Given the description of an element on the screen output the (x, y) to click on. 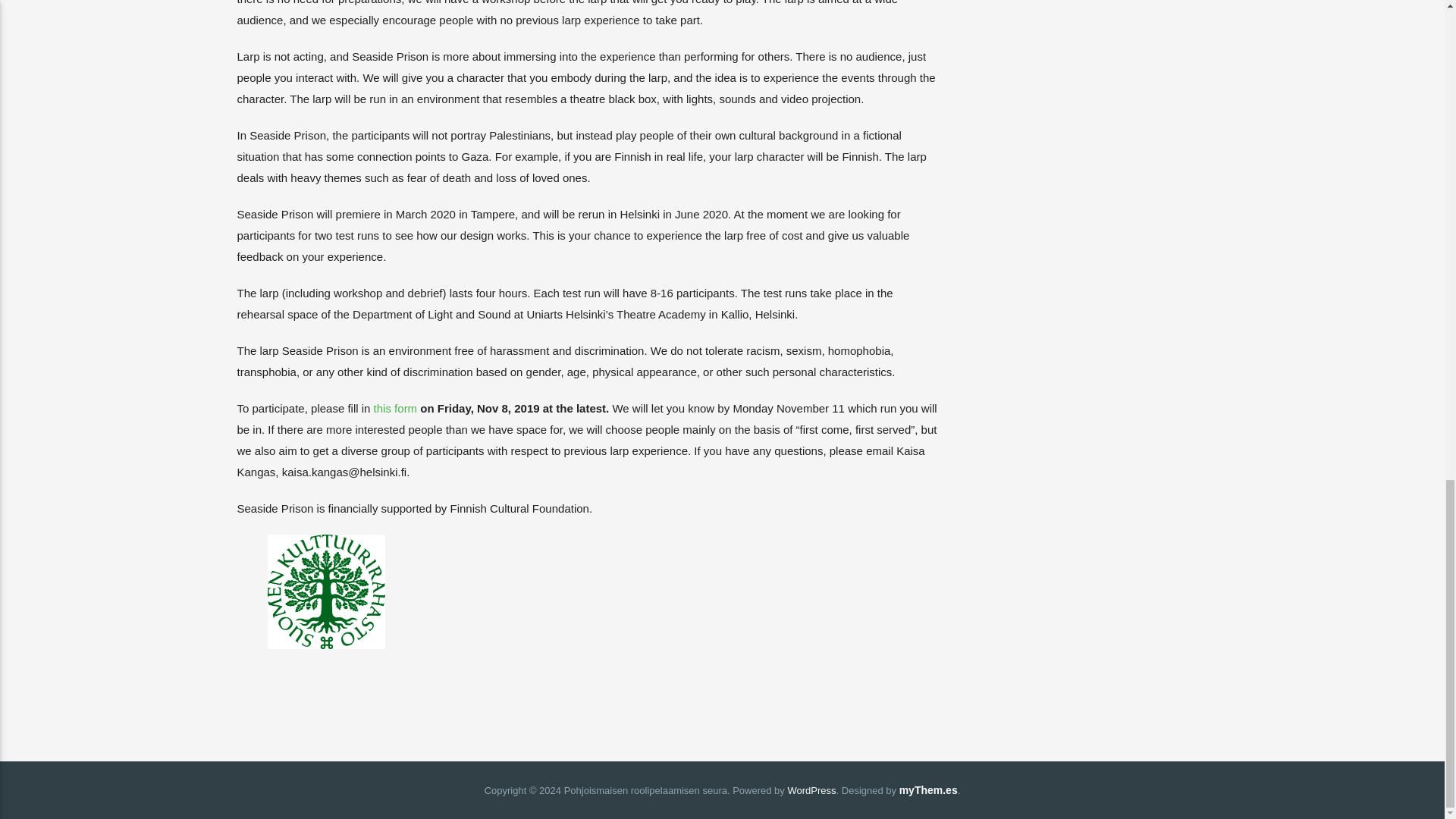
myThem.es (928, 789)
this form (395, 408)
myThem.es (928, 789)
WordPress (811, 790)
